Given the description of an element on the screen output the (x, y) to click on. 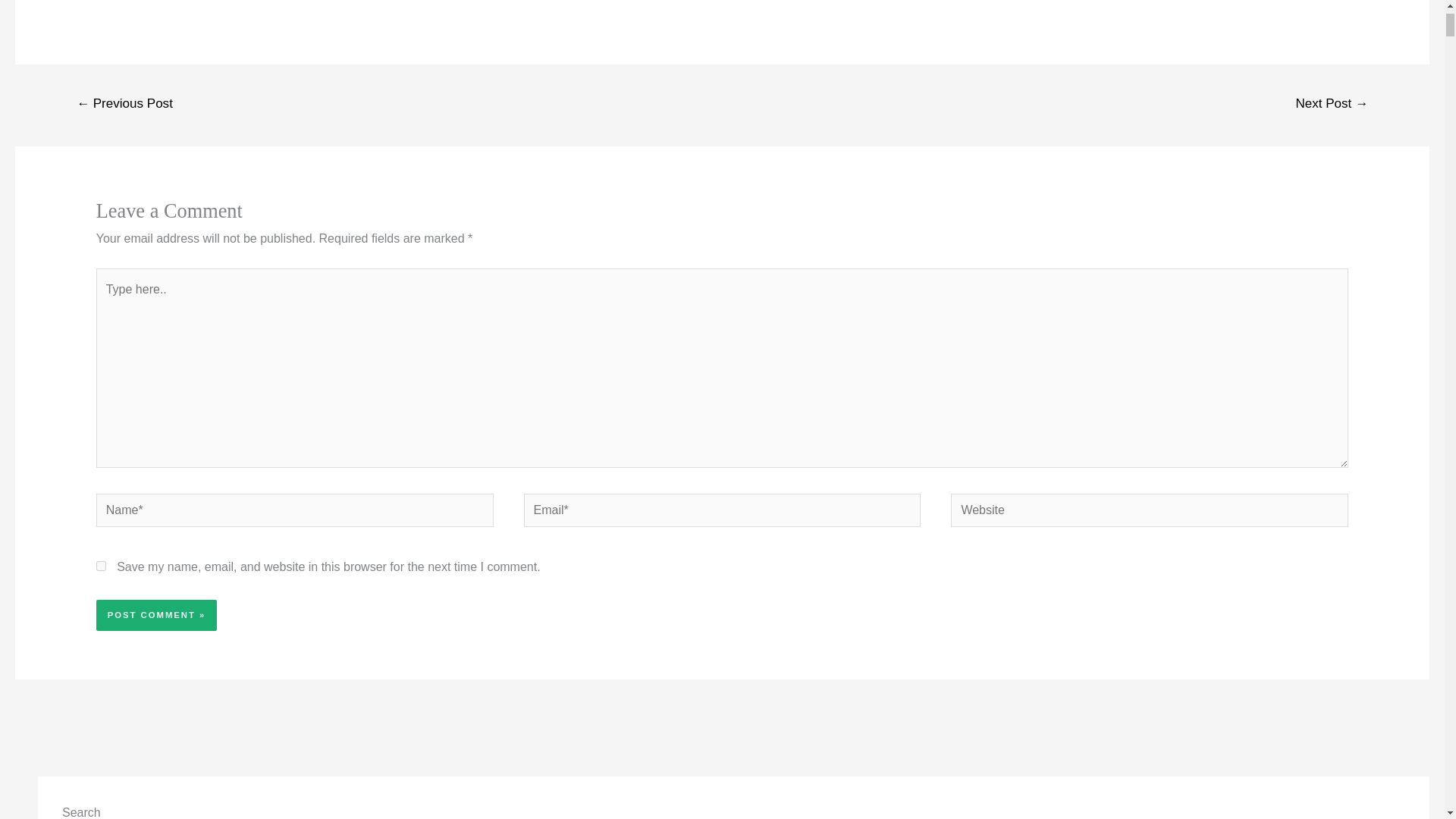
yes (101, 565)
